Given the description of an element on the screen output the (x, y) to click on. 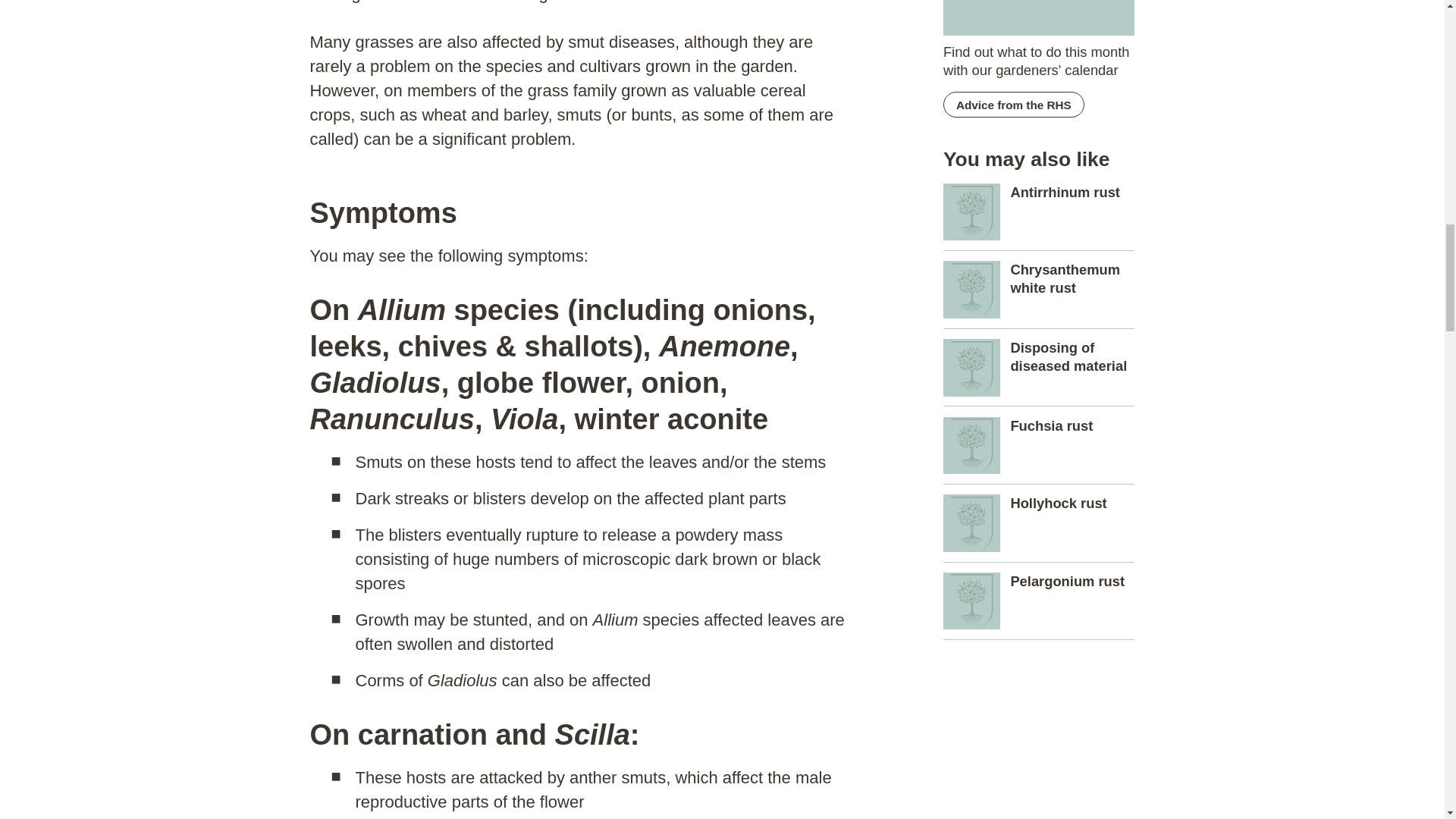
You may also like (972, 523)
You may also like (972, 289)
You may also like (972, 367)
You may also like (972, 445)
You may also like (972, 211)
You may also like (972, 600)
